Given the description of an element on the screen output the (x, y) to click on. 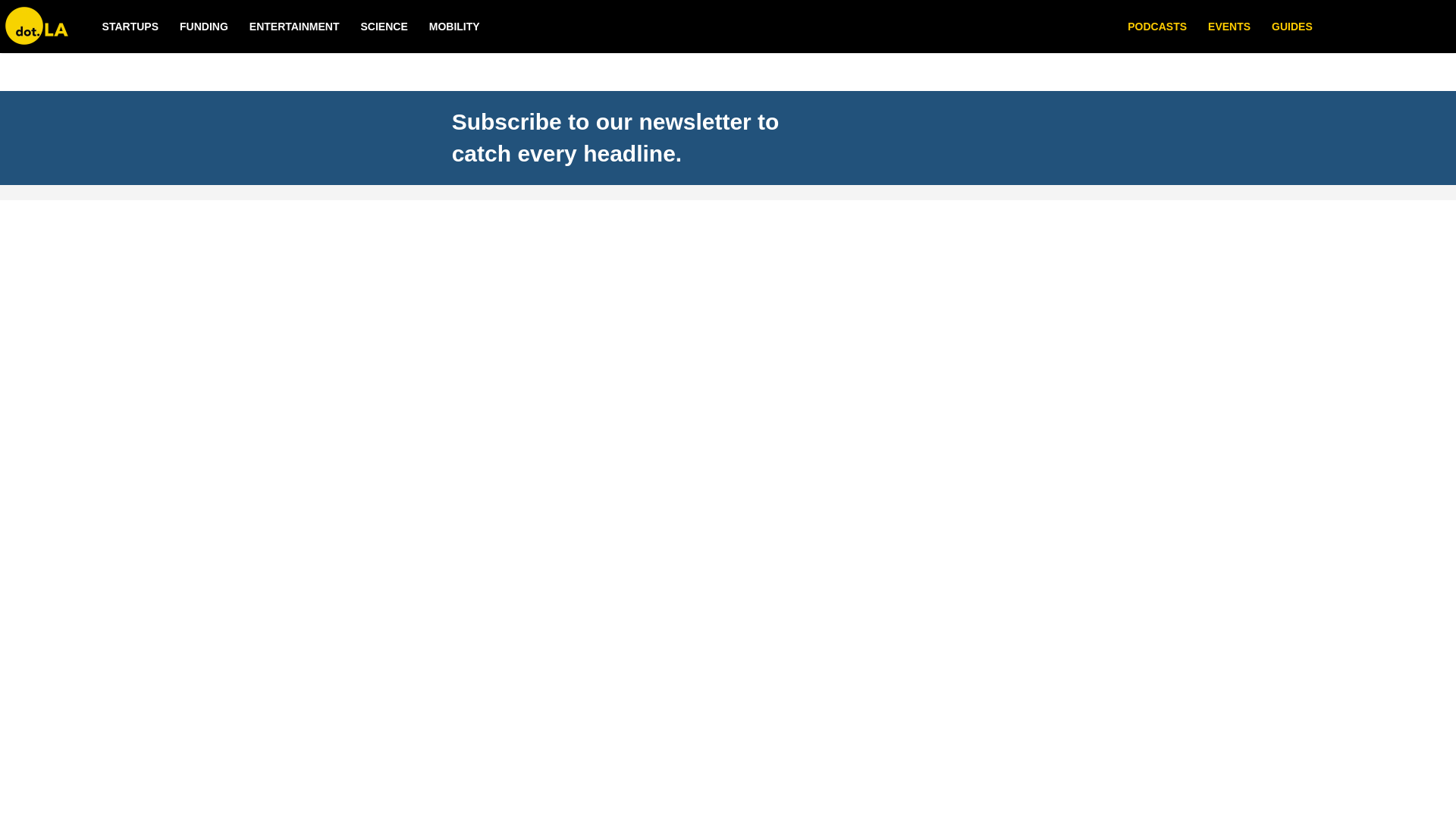
STARTUPS (129, 26)
ENTERTAINMENT (293, 26)
SCIENCE (384, 26)
FUNDING (203, 26)
